Given the description of an element on the screen output the (x, y) to click on. 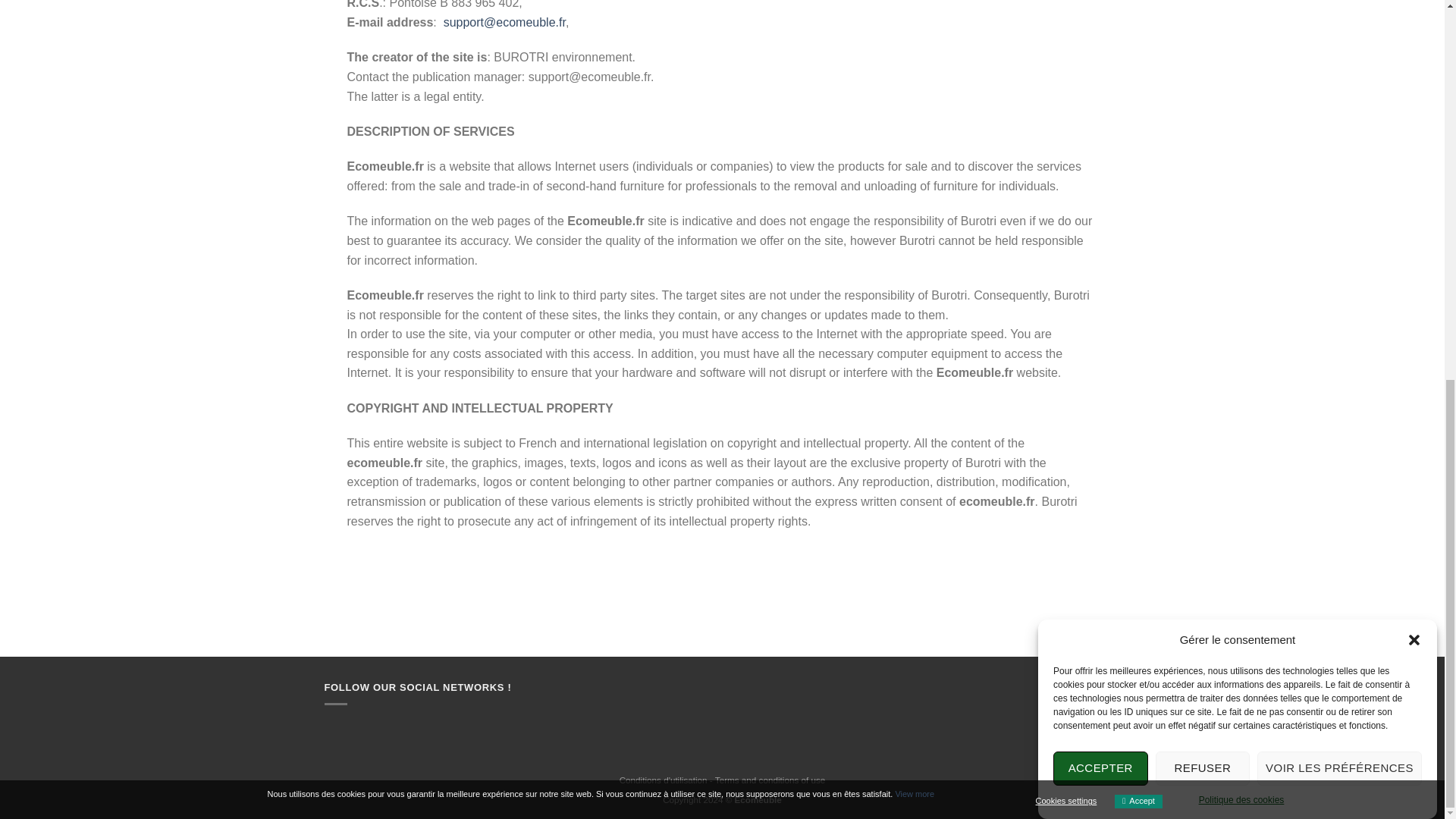
ACCEPTER (1100, 150)
REFUSER (1203, 136)
Politique des cookies (1241, 118)
Conditions d'utilisation (665, 779)
Terms and conditions of use (769, 779)
